Given the description of an element on the screen output the (x, y) to click on. 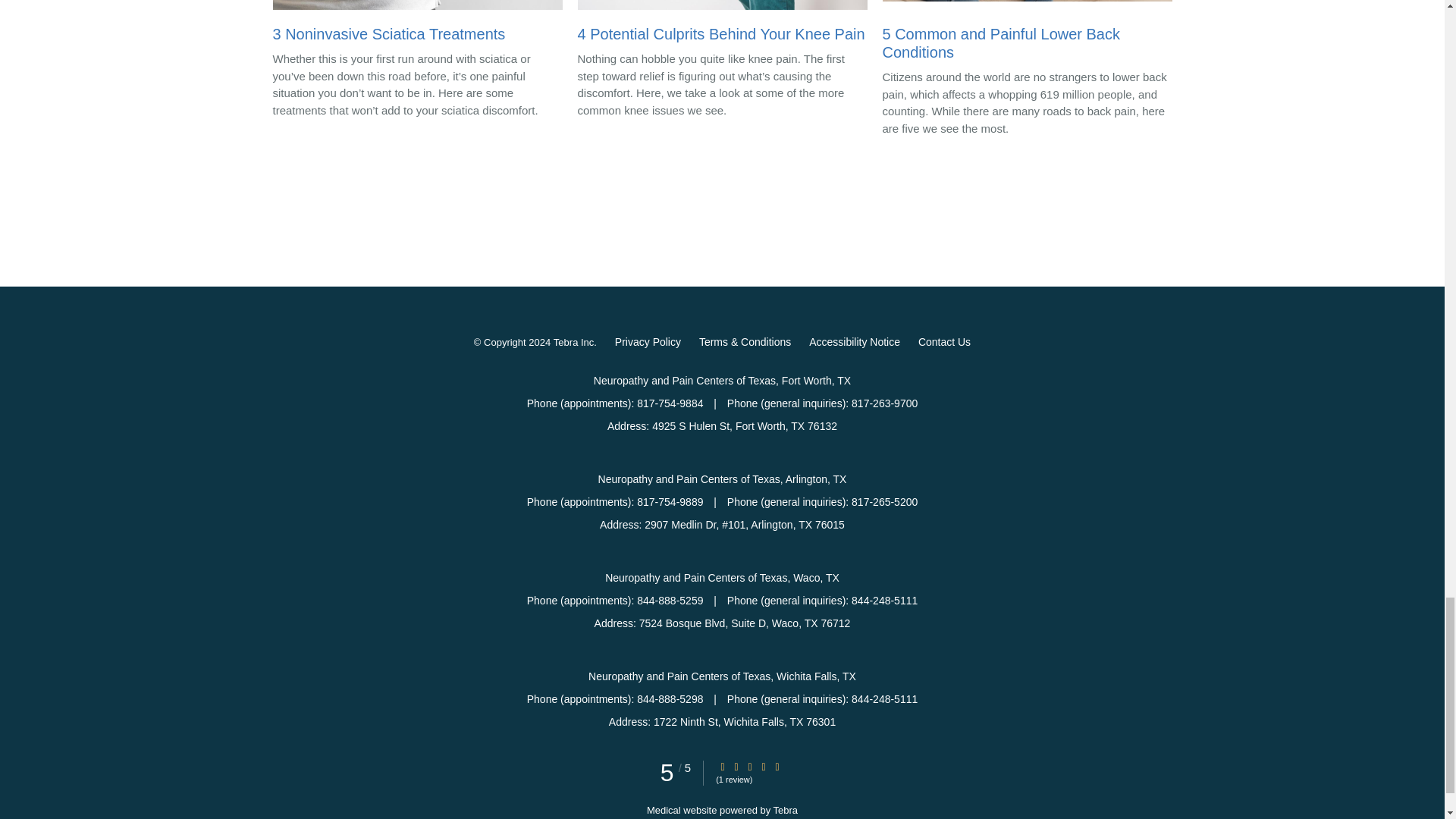
Star Rating (777, 767)
Star Rating (735, 767)
Star Rating (763, 767)
Star Rating (749, 767)
Star Rating (722, 767)
